Given the description of an element on the screen output the (x, y) to click on. 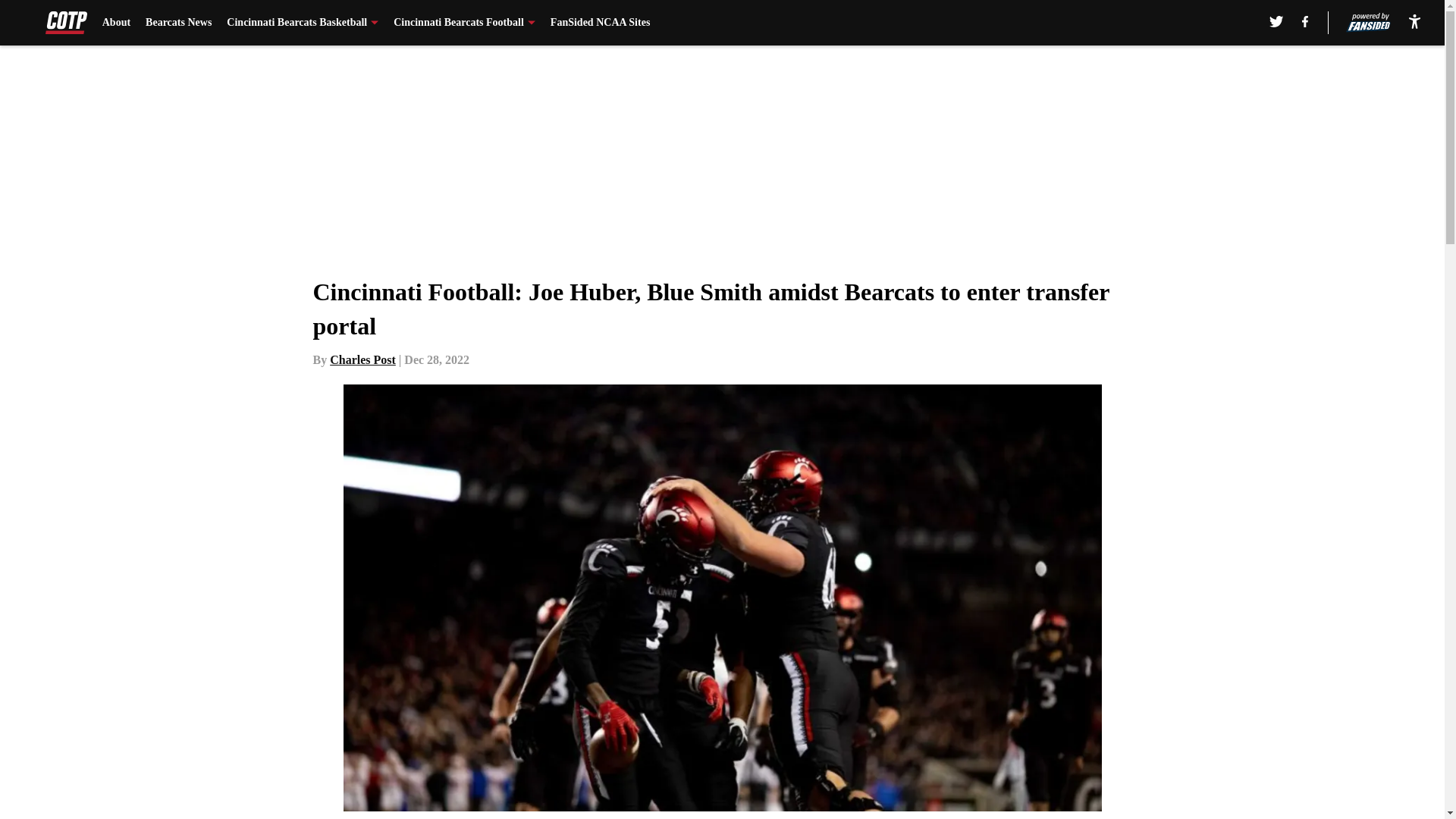
Bearcats News (178, 22)
FanSided NCAA Sites (599, 22)
Charles Post (363, 359)
About (116, 22)
